Given the description of an element on the screen output the (x, y) to click on. 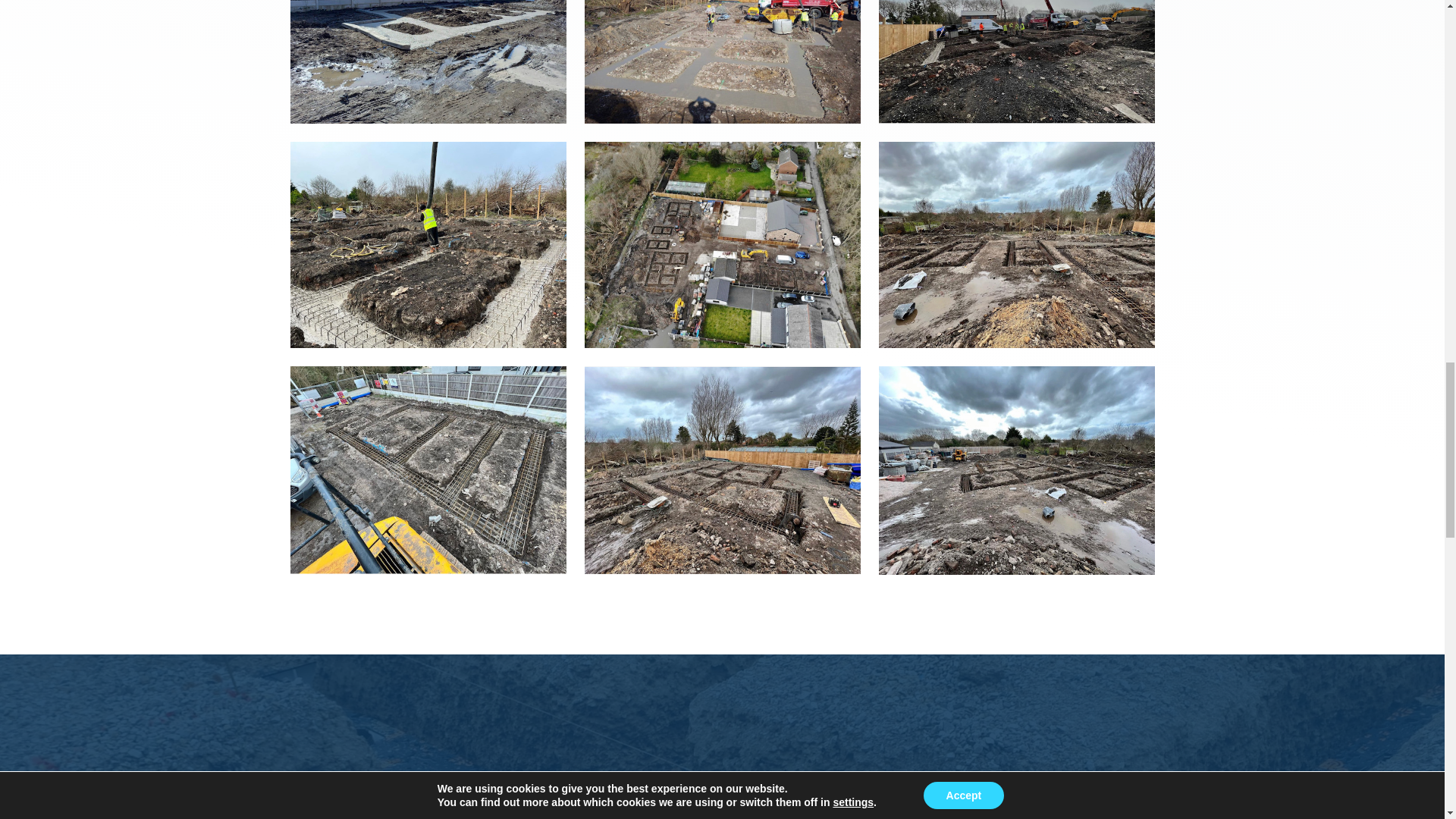
4 New build houses and garages in Blackpool 6 (1015, 244)
4 New build houses and garages in Blackpool 1 (427, 61)
4 New build houses and garages in Blackpool 7 (427, 469)
4 New build houses and garages in Blackpool 3 (1015, 61)
4 New build houses and garages in Blackpool 5 (721, 244)
4 New build houses and garages in Blackpool 8 (721, 469)
4 New build houses and garages in Blackpool 4 (427, 244)
4 New build houses and garages in Blackpool 2 (721, 61)
4 New build houses and garages in Blackpool 9 (1015, 469)
